Given the description of an element on the screen output the (x, y) to click on. 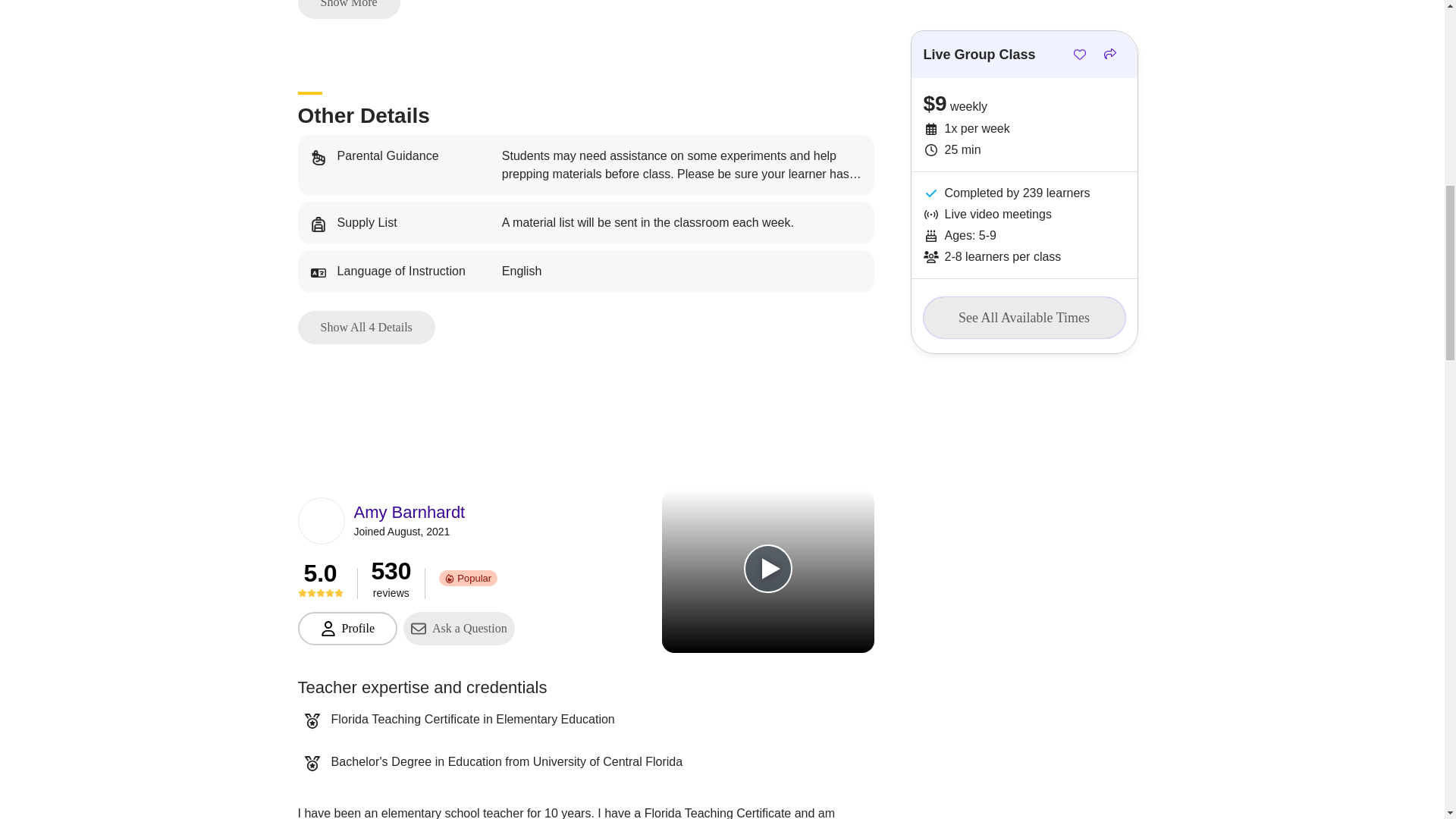
Amy Barnhardt (408, 512)
Profile (347, 628)
Show All 4 Details (365, 327)
Show More (347, 9)
Ask a Question (459, 628)
